Given the description of an element on the screen output the (x, y) to click on. 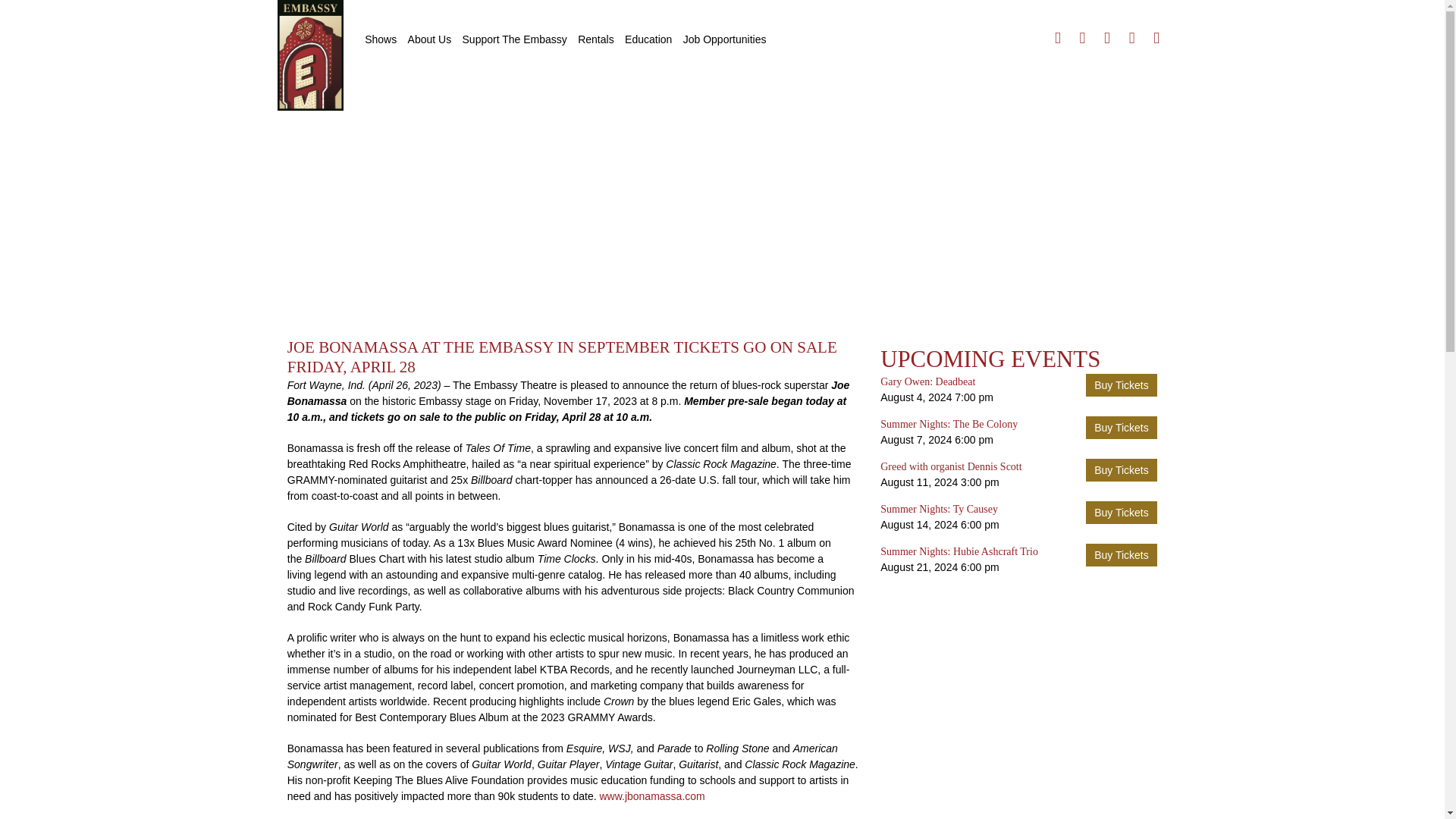
Job Opportunities (724, 39)
Shows (380, 39)
Support The Embassy (514, 39)
About Us (430, 39)
Rentals (595, 39)
Facebook (1057, 38)
Education (648, 39)
Twitter (1082, 38)
